Given the description of an element on the screen output the (x, y) to click on. 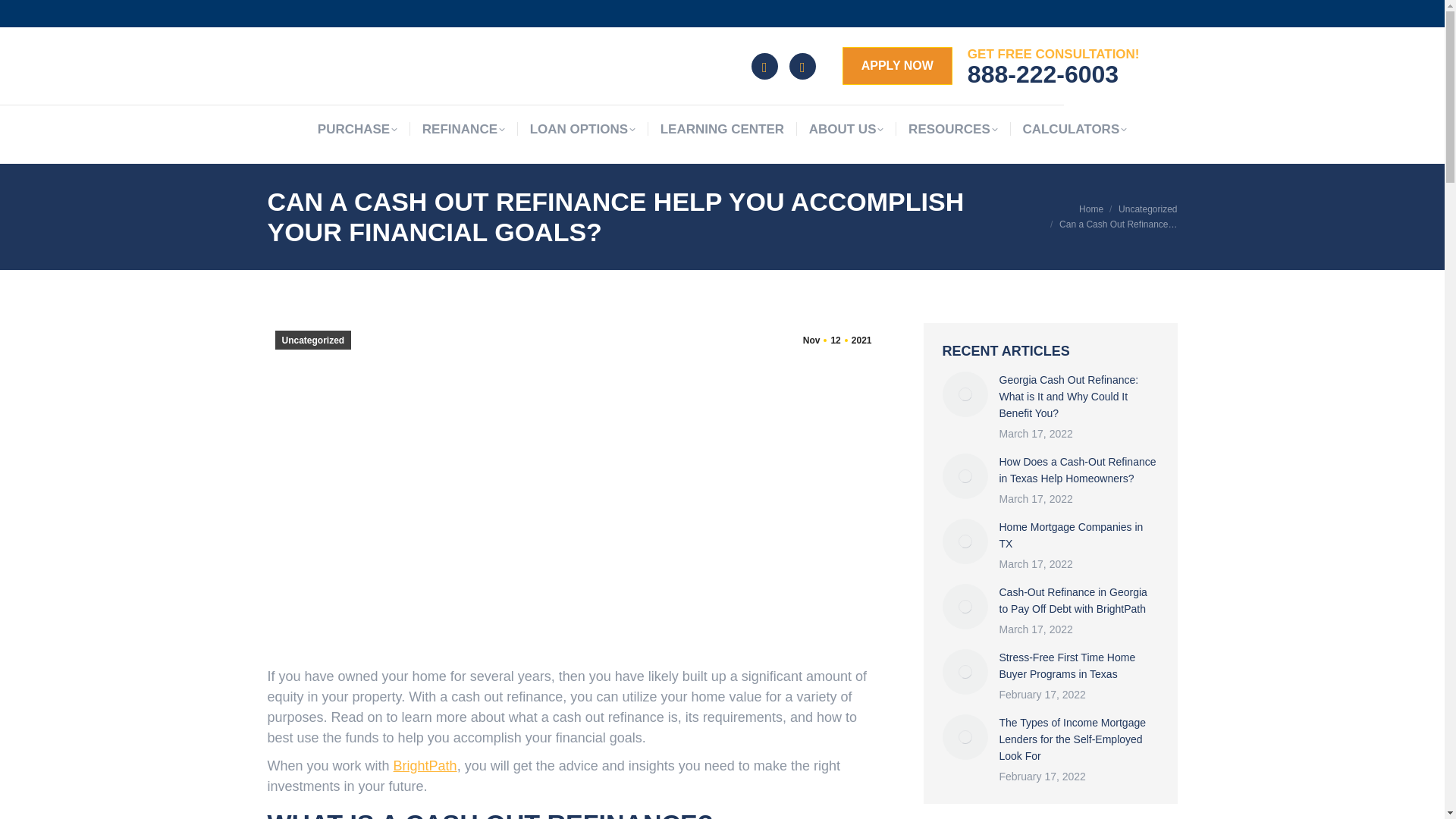
Calendar (802, 66)
Calculator (764, 66)
PURCHASE (357, 128)
Calculator (764, 66)
888-222-6003 (1043, 73)
APPLY NOW (897, 65)
Uncategorized (1147, 208)
LEARNING CENTER (722, 128)
6:21 pm (836, 339)
LOAN OPTIONS (581, 128)
